Given the description of an element on the screen output the (x, y) to click on. 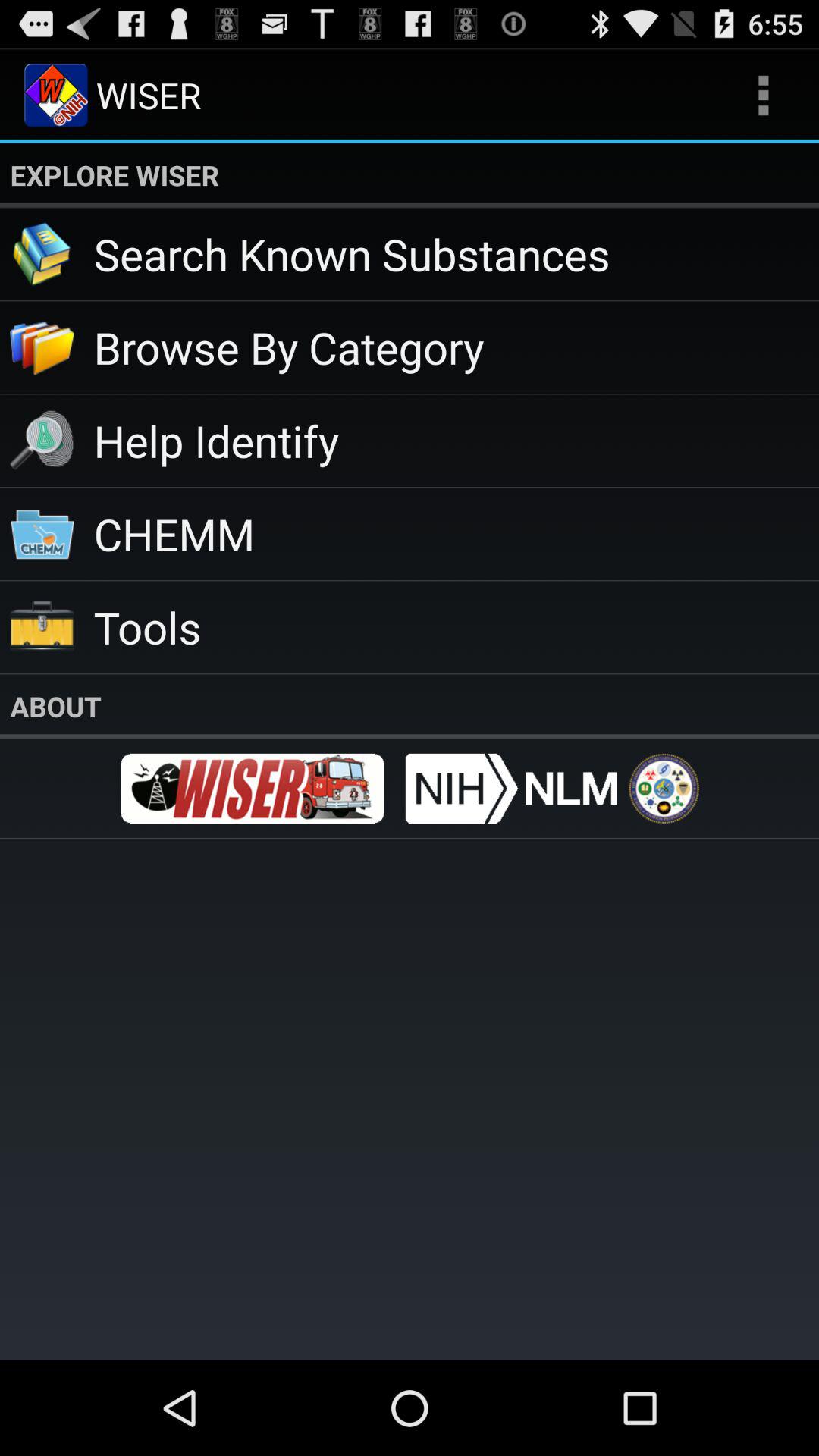
turn on icon above the help identify icon (456, 346)
